Given the description of an element on the screen output the (x, y) to click on. 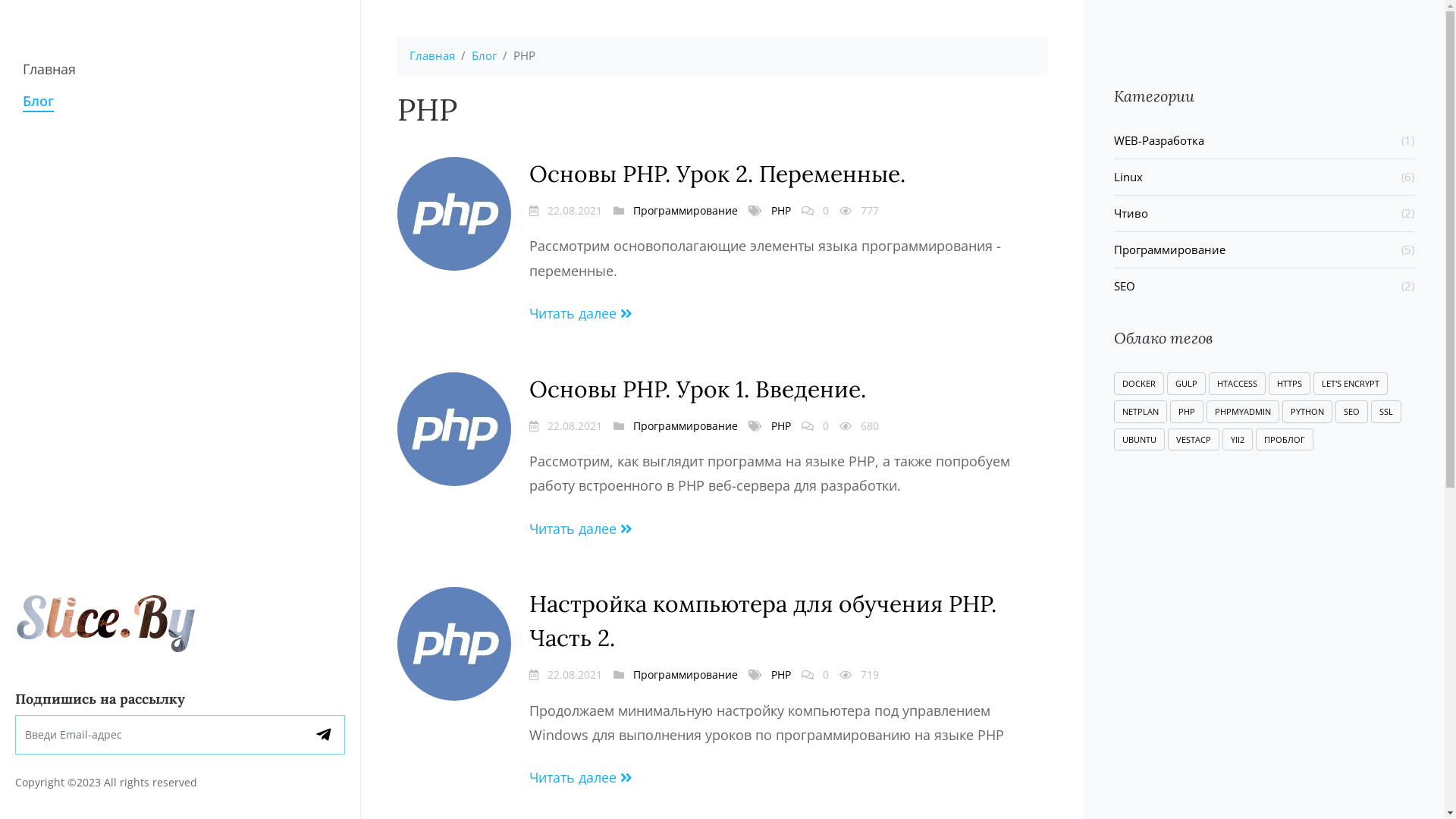
SSL Element type: text (1386, 411)
Linux
(6) Element type: text (1263, 176)
HTACCESS Element type: text (1236, 383)
PHP Element type: text (780, 674)
HTTPS Element type: text (1289, 383)
NETPLAN Element type: text (1140, 411)
SEO
(2) Element type: text (1263, 286)
PHP Element type: text (780, 210)
VESTACP Element type: text (1193, 439)
LET'S ENCRYPT Element type: text (1350, 383)
GULP Element type: text (1186, 383)
UBUNTU Element type: text (1138, 439)
PHPMYADMIN Element type: text (1242, 411)
YII2 Element type: text (1237, 439)
Slice.By Element type: text (104, 616)
PHP Element type: text (1186, 411)
SEO Element type: text (1351, 411)
DOCKER Element type: text (1138, 383)
PHP Element type: text (780, 425)
PYTHON Element type: text (1307, 411)
